Given the description of an element on the screen output the (x, y) to click on. 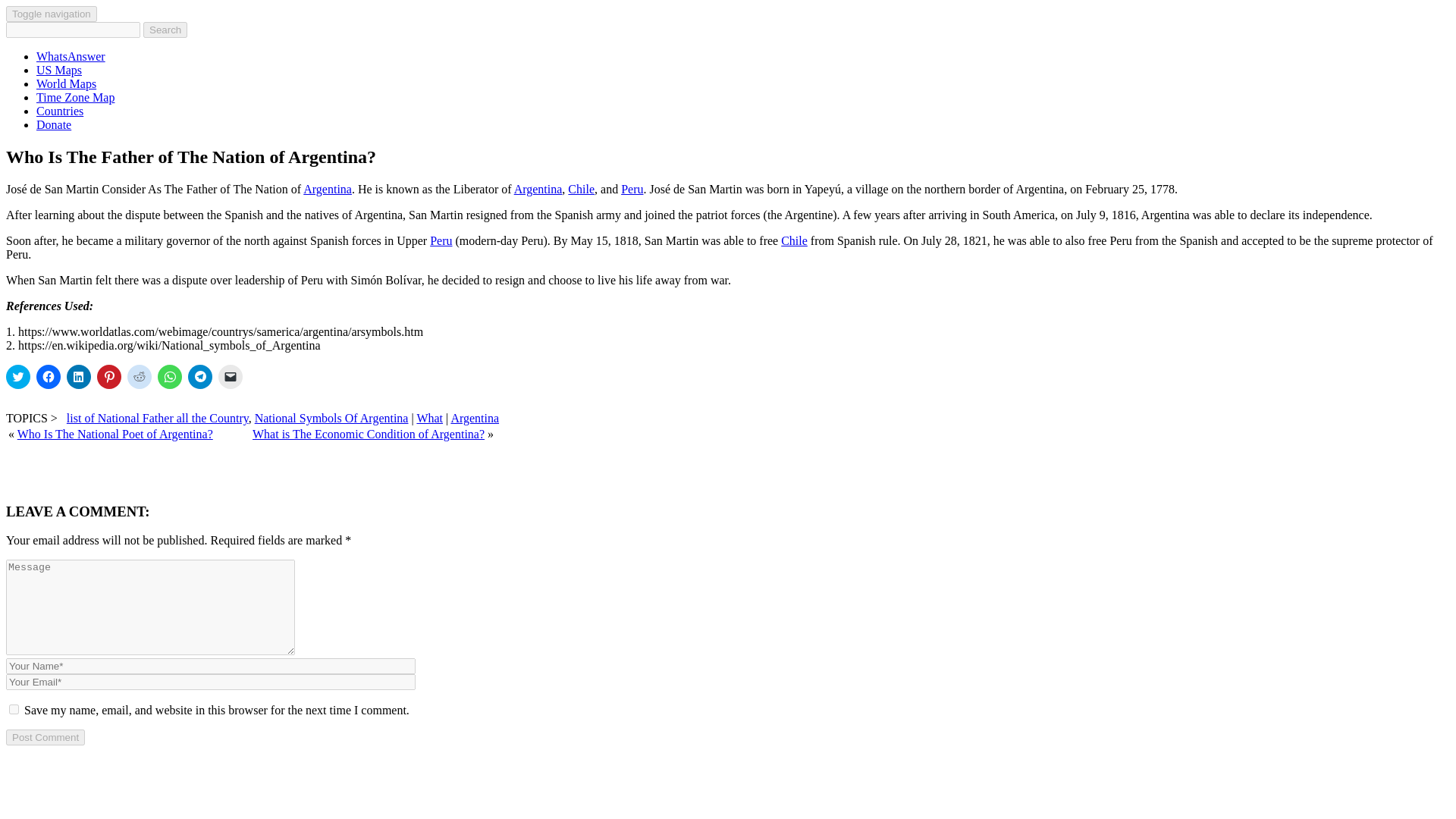
Donate (53, 124)
Click to share on Facebook (48, 376)
Click to share on WhatsApp (169, 376)
Toggle navigation (51, 13)
Click to share on Reddit (139, 376)
Post Comment (44, 737)
yes (13, 709)
Search (164, 29)
Peru (632, 188)
Click to share on Twitter (17, 376)
Argentina (474, 418)
Countries (59, 110)
Peru (440, 240)
Chile (580, 188)
US Maps (58, 69)
